Given the description of an element on the screen output the (x, y) to click on. 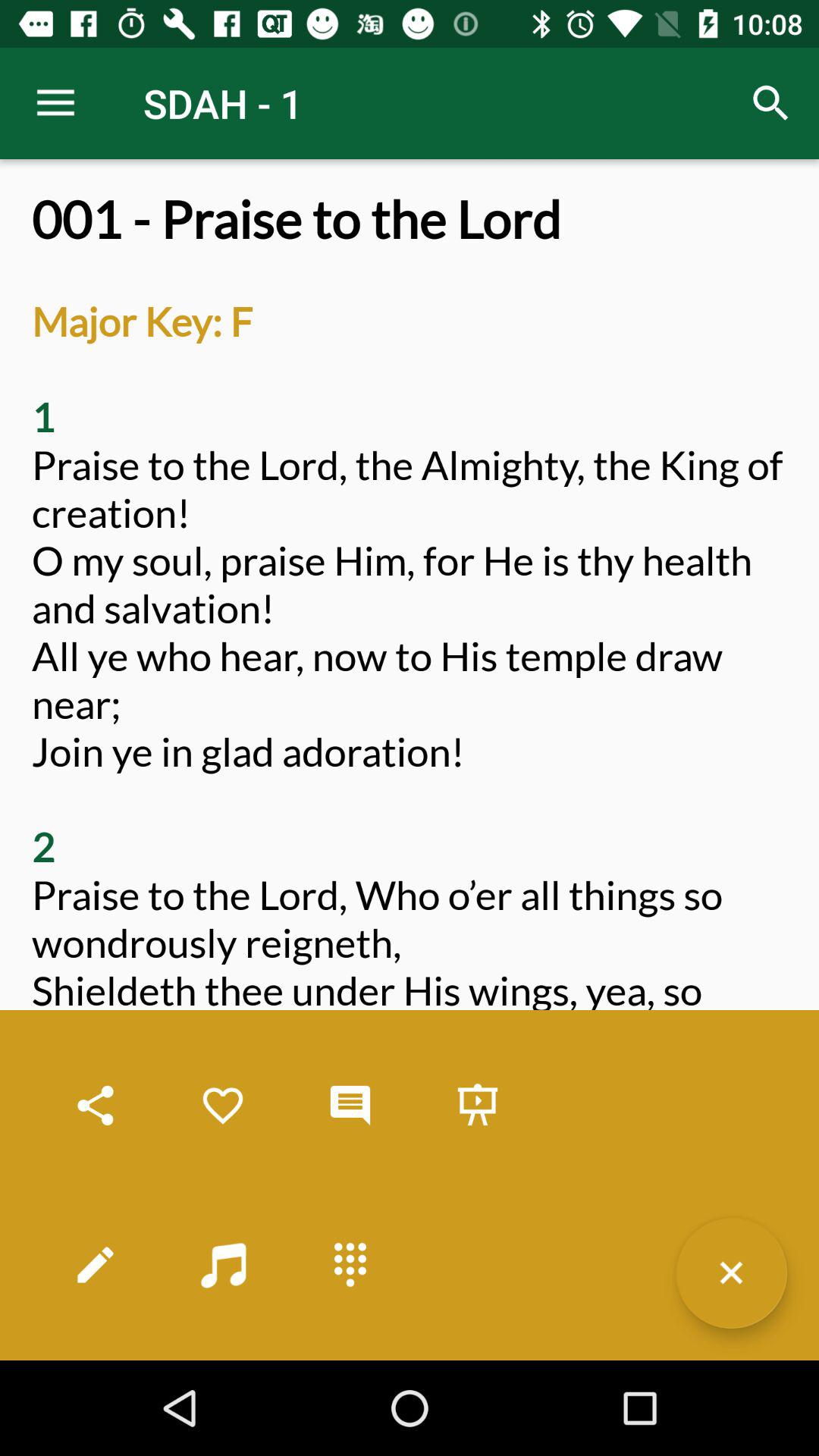
swipe until 001 praise to (409, 775)
